Given the description of an element on the screen output the (x, y) to click on. 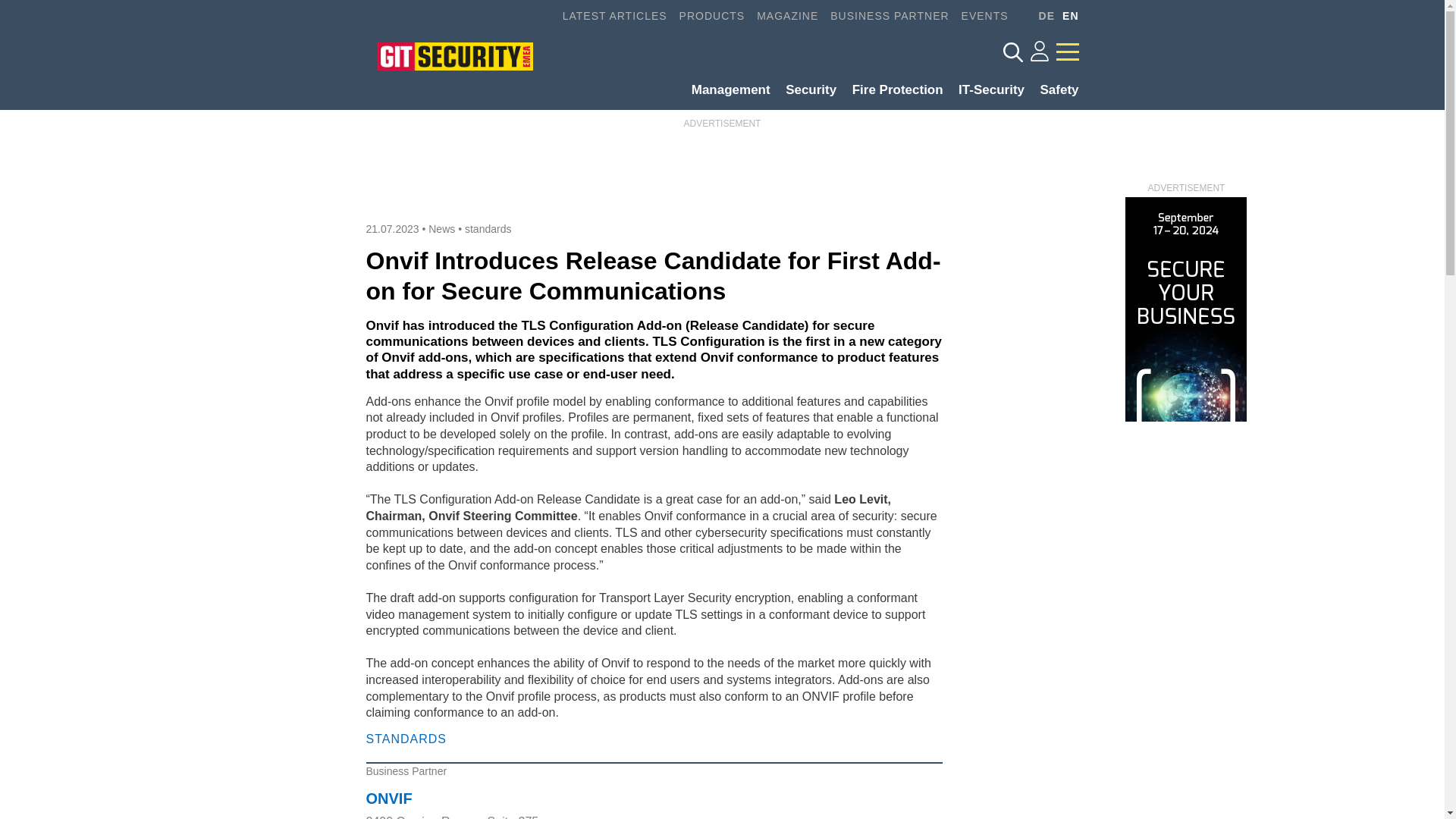
EN (1066, 16)
Fire Protection (891, 89)
MAGAZINE (781, 16)
DE (1042, 16)
Management (724, 89)
LATEST ARTICLES (608, 16)
EVENTS (979, 16)
ONVIF (388, 798)
PRODUCTS (705, 16)
Safety (1052, 89)
Security (804, 89)
IT-Security (985, 89)
News (441, 228)
BUSINESS PARTNER (883, 16)
standards (487, 228)
